Given the description of an element on the screen output the (x, y) to click on. 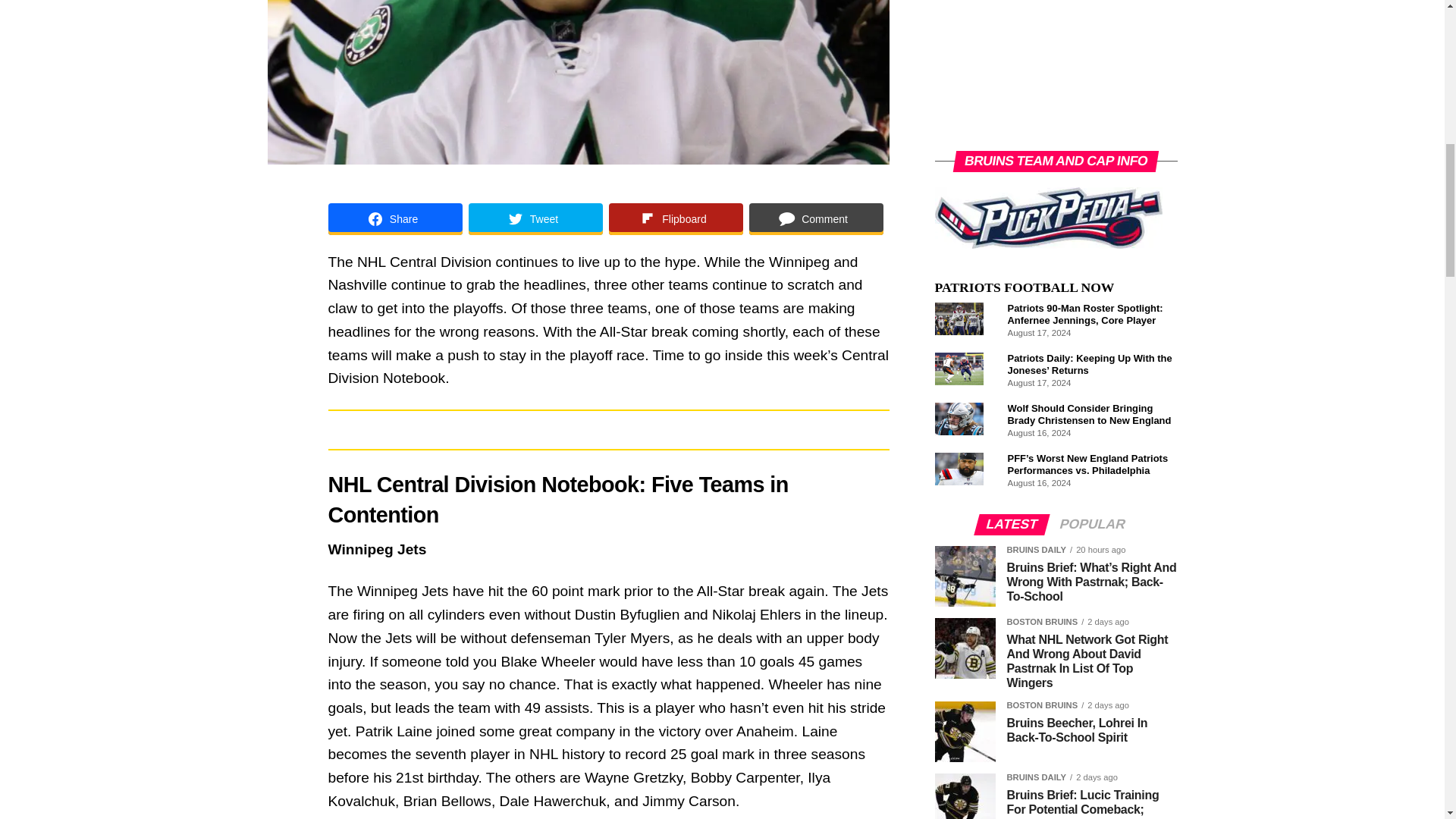
Bruins Team and Cap Info (1047, 217)
Share on Share (394, 219)
Share on Flipboard (675, 219)
Share on Comment (816, 219)
Share on Tweet (535, 219)
